Given the description of an element on the screen output the (x, y) to click on. 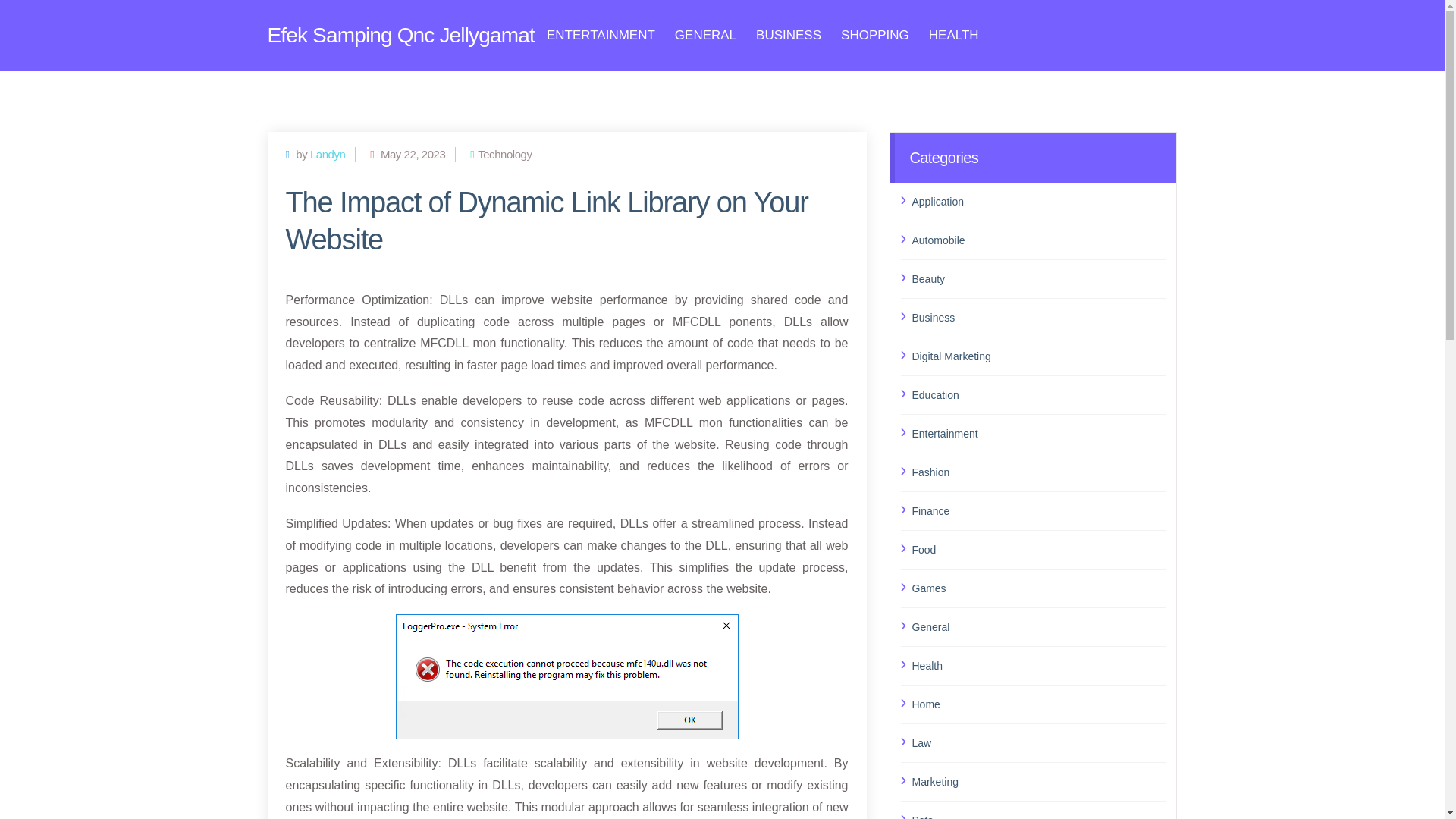
Home (1038, 704)
HEALTH (953, 35)
Business (1038, 317)
Application (1038, 200)
GENERAL (705, 35)
Food (1038, 549)
SHOPPING (874, 35)
Beauty (1038, 278)
Automobile (1038, 240)
Health (1038, 664)
Finance (1038, 510)
BUSINESS (788, 35)
Education (1038, 394)
Games (1038, 587)
Entertainment (1038, 433)
